Given the description of an element on the screen output the (x, y) to click on. 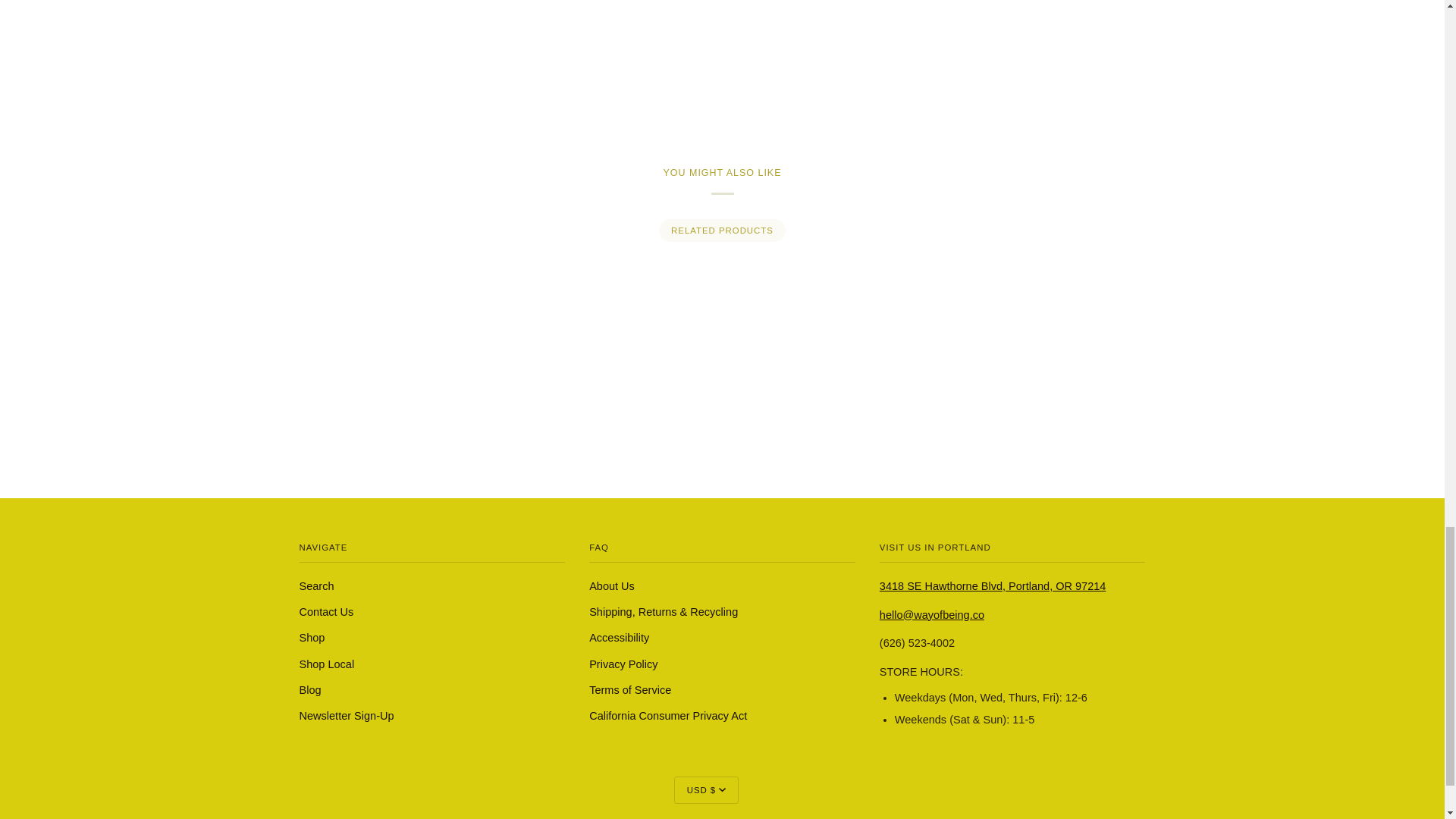
RELATED PRODUCTS (721, 230)
